Given the description of an element on the screen output the (x, y) to click on. 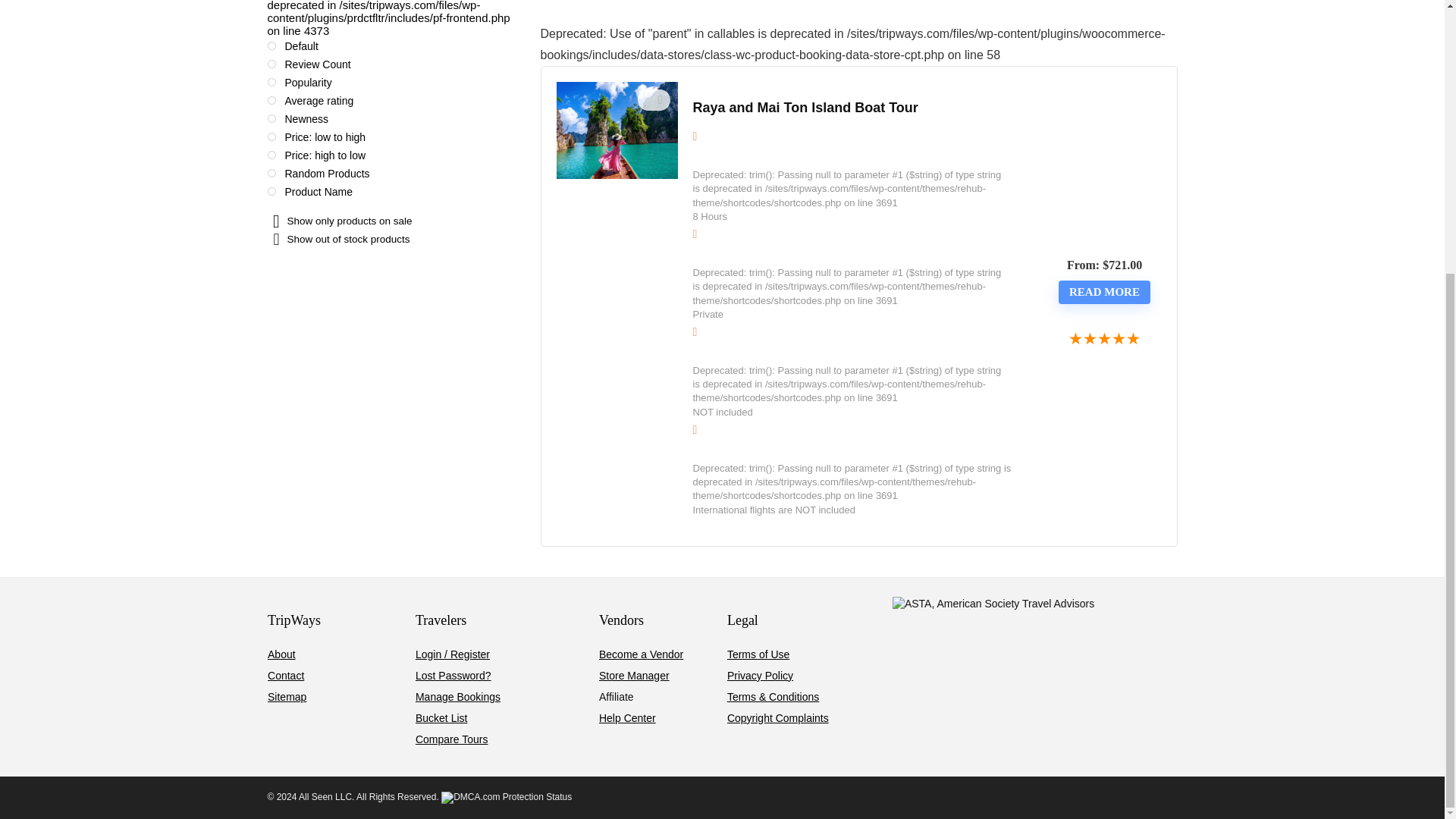
Rated 5 out of 5 (1104, 339)
DMCA.com Protection Status (506, 796)
